Given the description of an element on the screen output the (x, y) to click on. 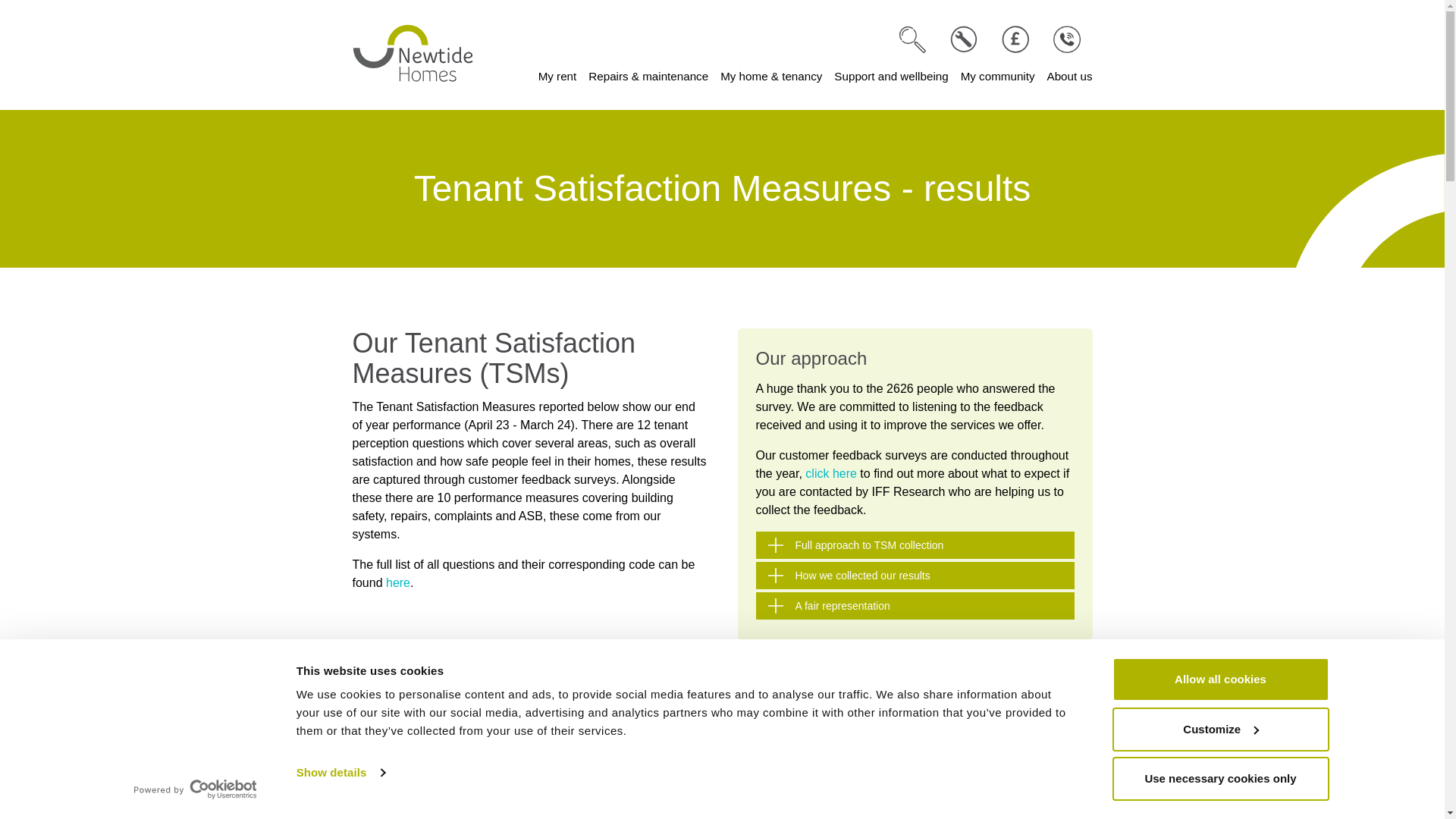
Allow all cookies (1219, 679)
Show details (340, 772)
Tenant Satisfaction Measures (831, 472)
Use necessary cookies only (1219, 778)
Summary Of Tenant Satisfaction Measures (397, 582)
Customize (1219, 728)
